Given the description of an element on the screen output the (x, y) to click on. 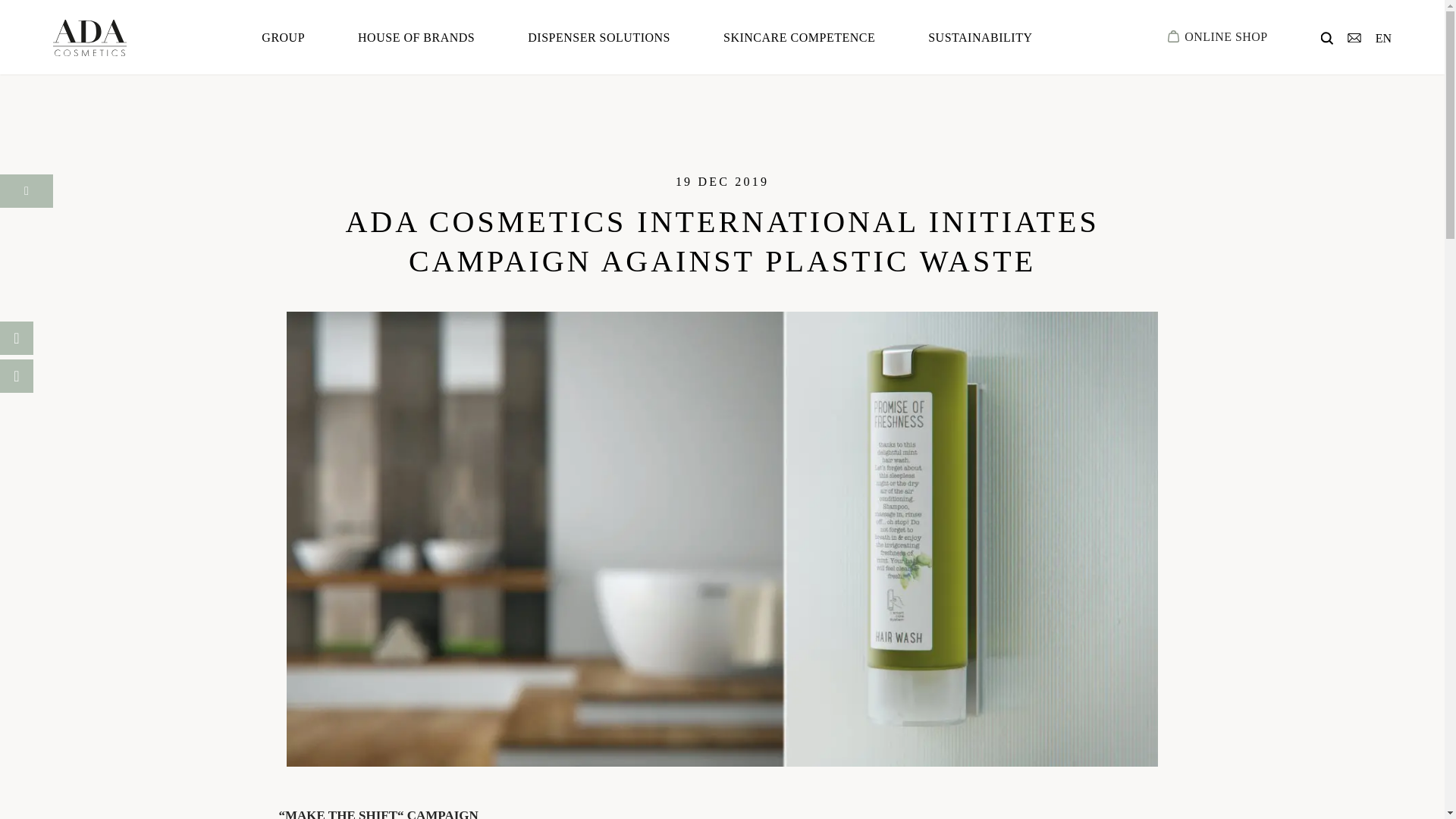
HOUSE OF BRANDS (416, 36)
GROUP (283, 36)
